Given the description of an element on the screen output the (x, y) to click on. 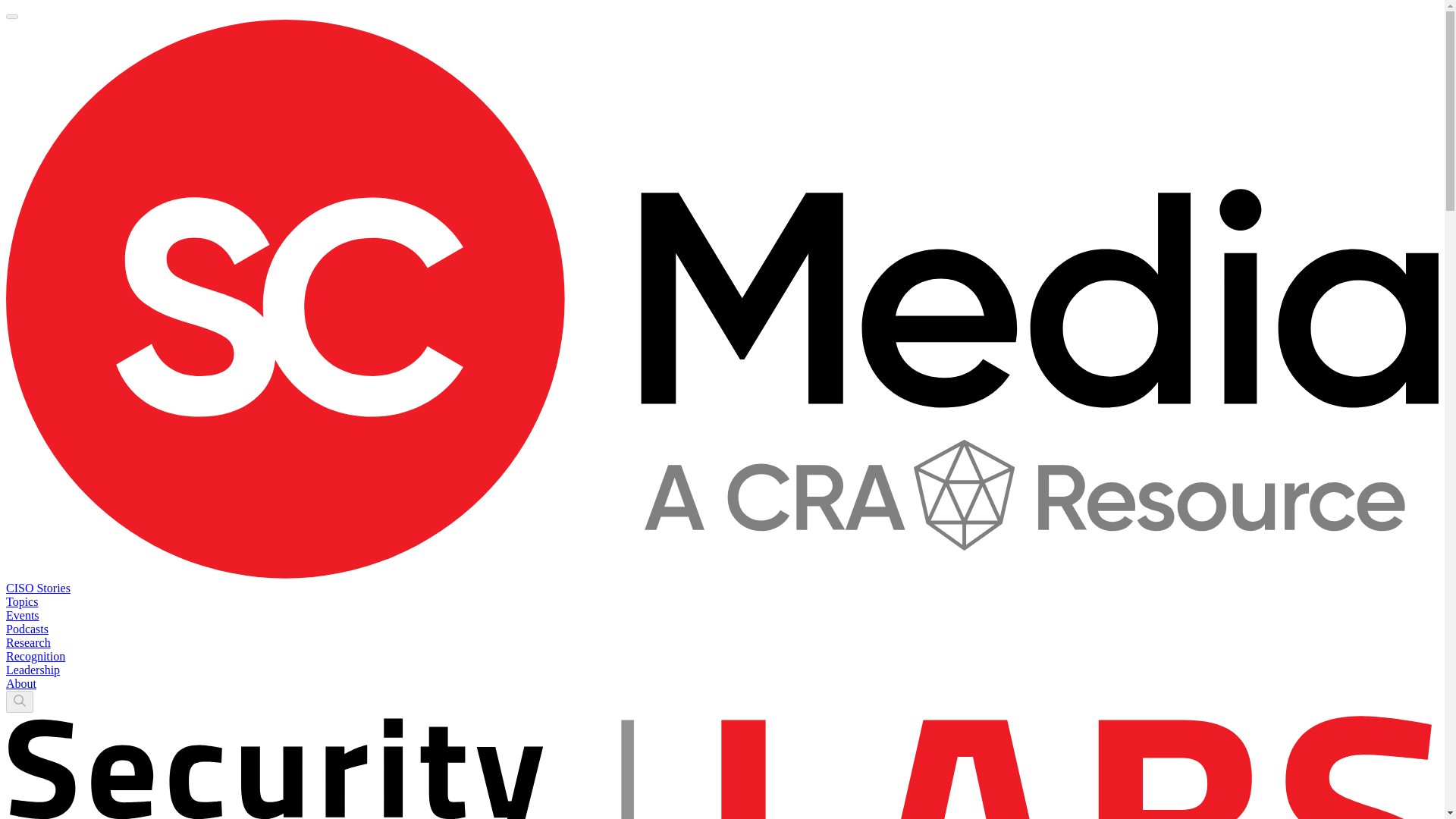
Events (22, 615)
Recognition (35, 656)
CISO Stories (37, 587)
Podcasts (26, 628)
Leadership (32, 669)
Research (27, 642)
About (20, 683)
Topics (21, 601)
